Given the description of an element on the screen output the (x, y) to click on. 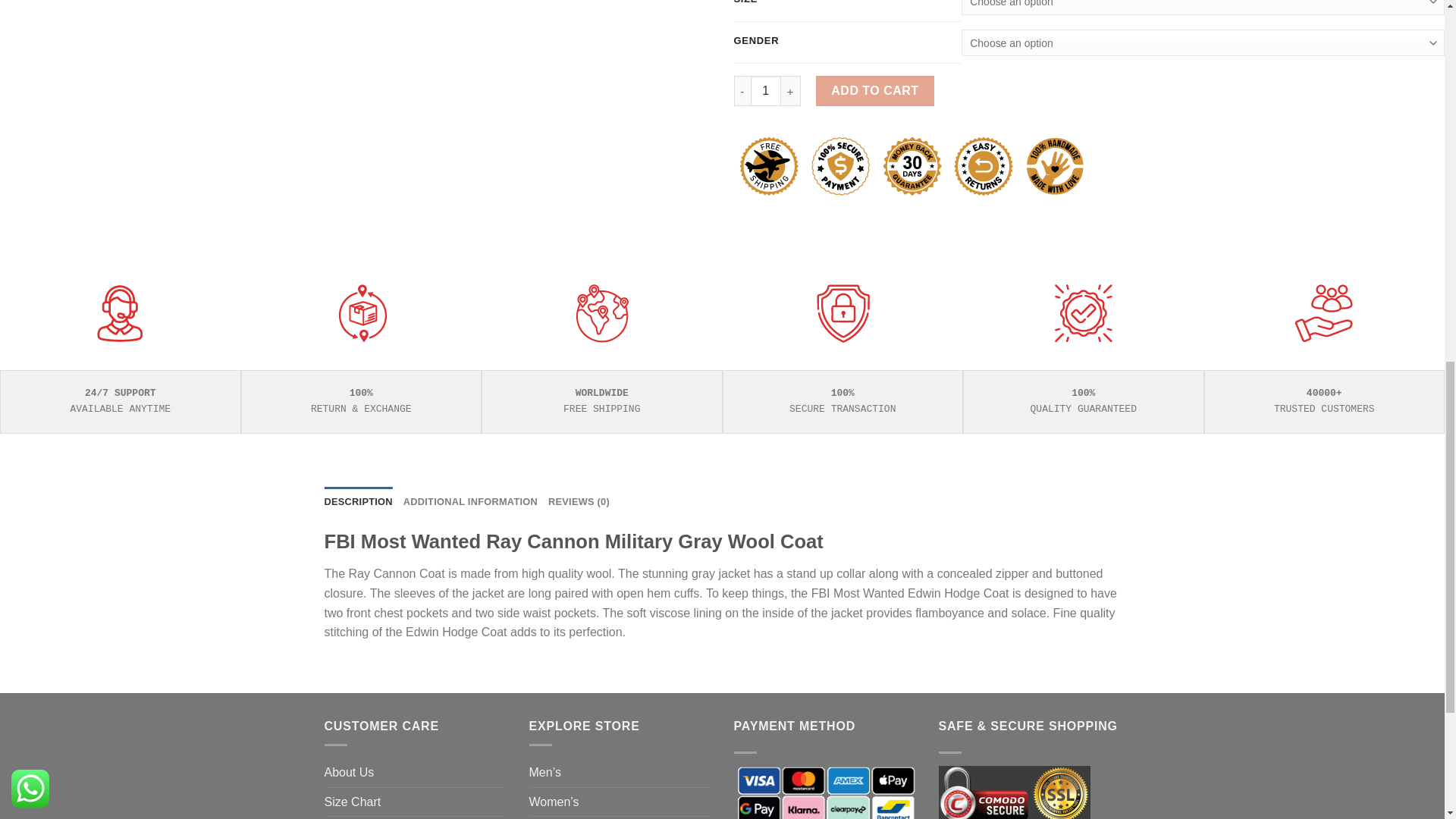
1 (765, 91)
